Given the description of an element on the screen output the (x, y) to click on. 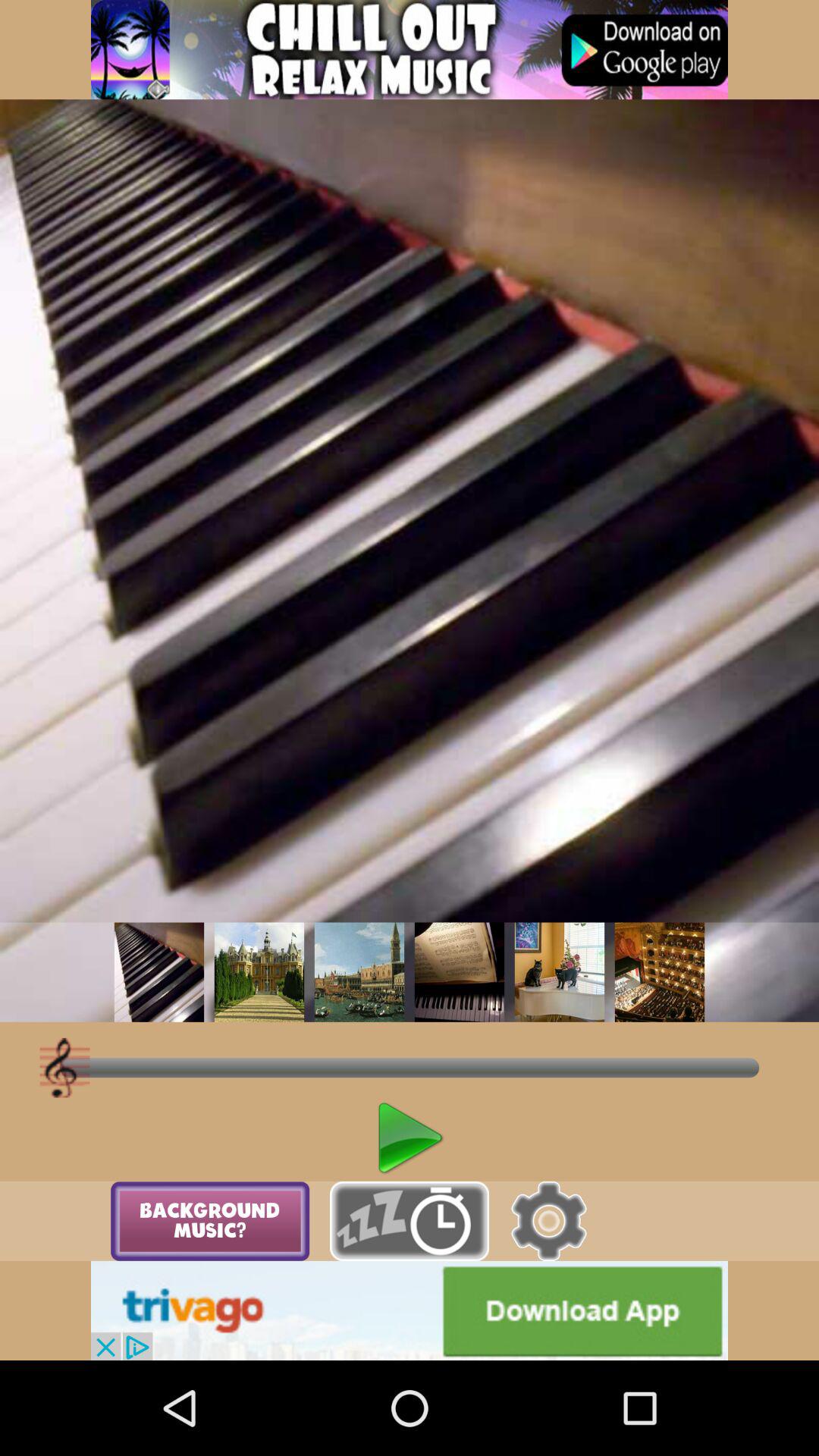
snooze option (409, 1220)
